Given the description of an element on the screen output the (x, y) to click on. 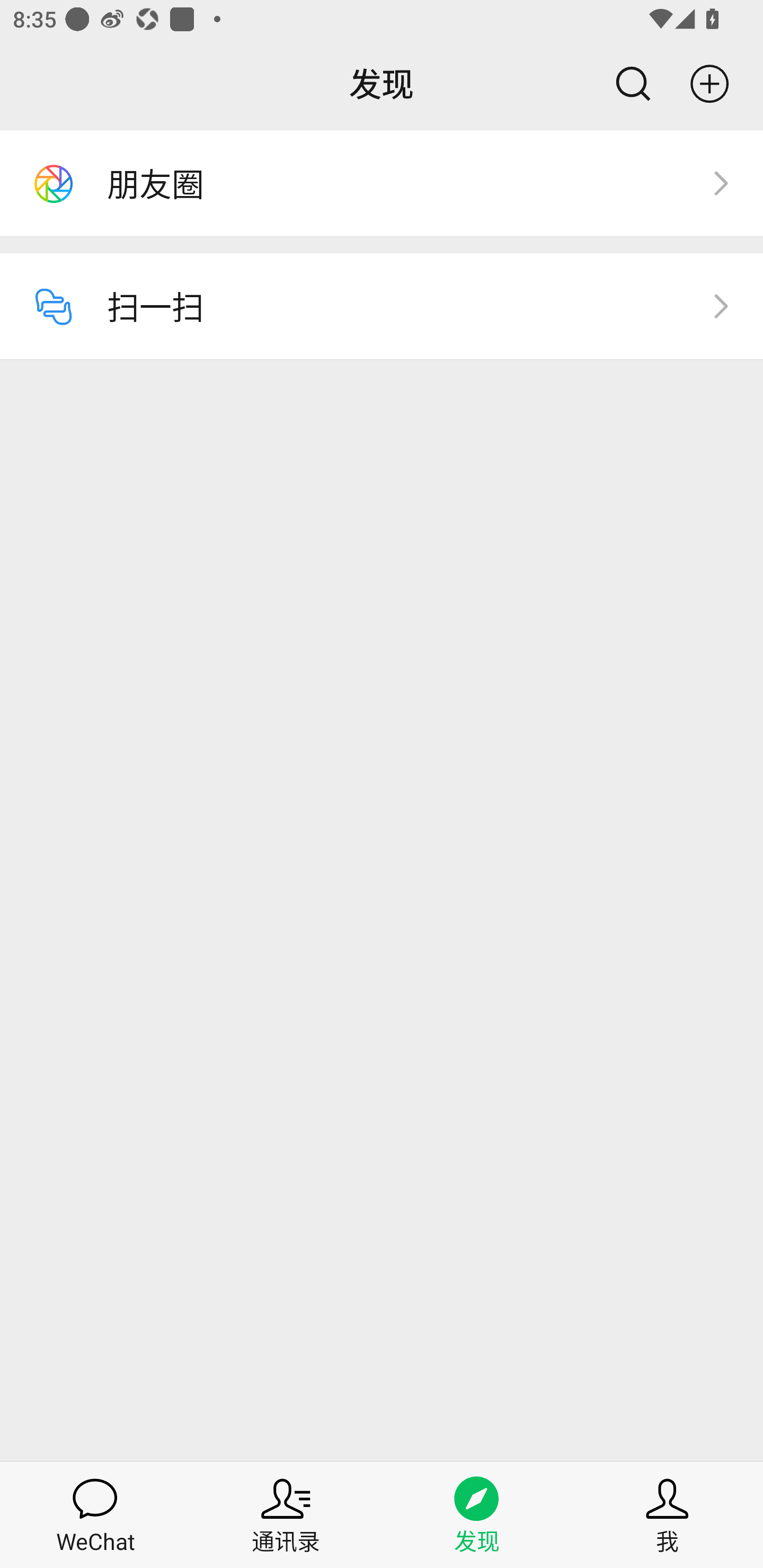
发现 搜索 更多功能按钮 (381, 83)
搜索 (625, 83)
更多功能按钮 (717, 83)
朋友圈 (381, 183)
扫一扫 (381, 306)
WeChat (95, 1514)
通讯录 (285, 1514)
发现 (476, 1514)
我 (667, 1514)
